Given the description of an element on the screen output the (x, y) to click on. 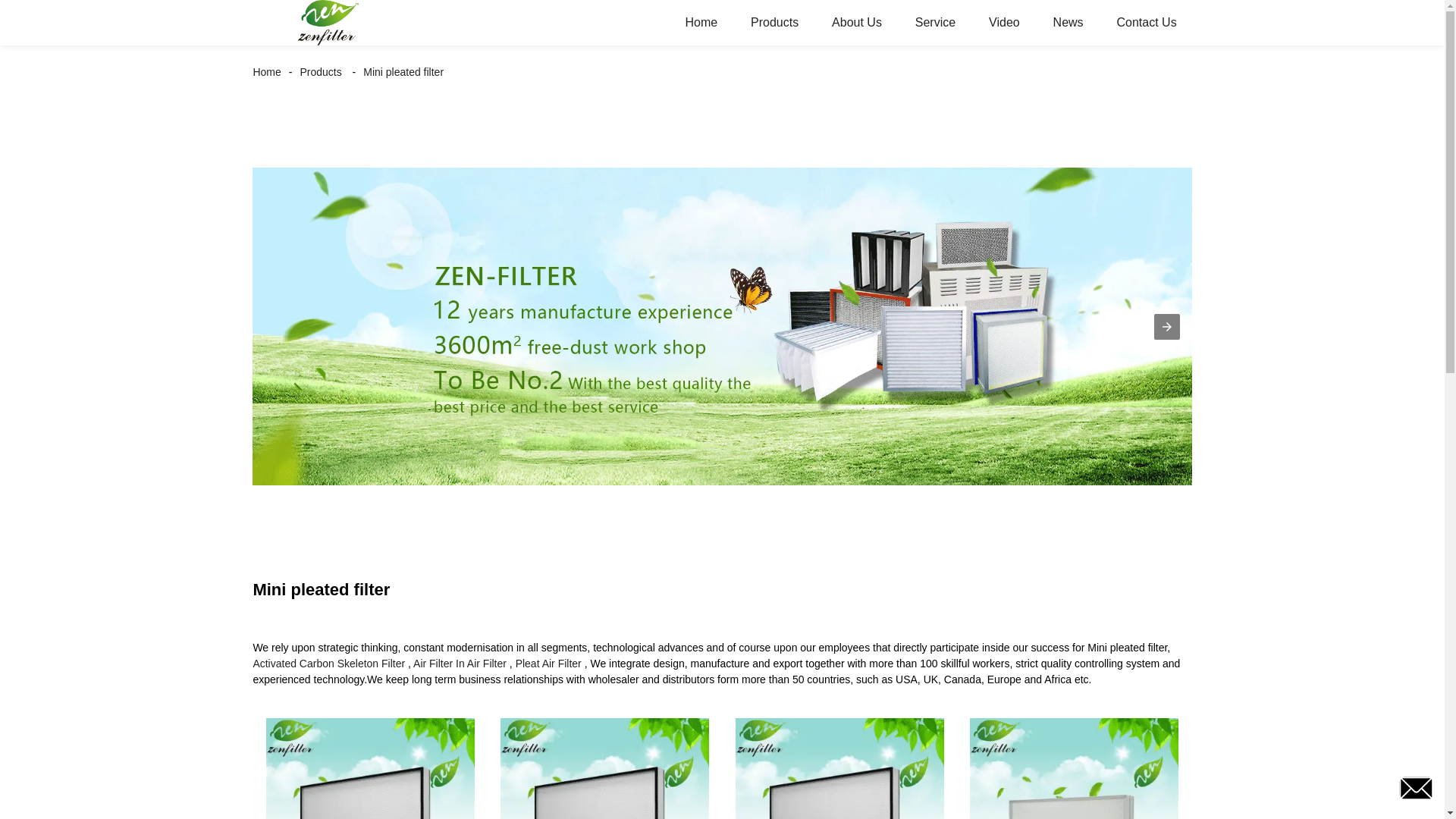
Activated Carbon Skeleton Filter (327, 663)
Home (700, 22)
Video (1004, 22)
Service (935, 22)
Air Filter In Air Filter (459, 663)
Products (774, 22)
Pleat Air Filter (547, 663)
About Us (856, 22)
Products (320, 71)
